Given the description of an element on the screen output the (x, y) to click on. 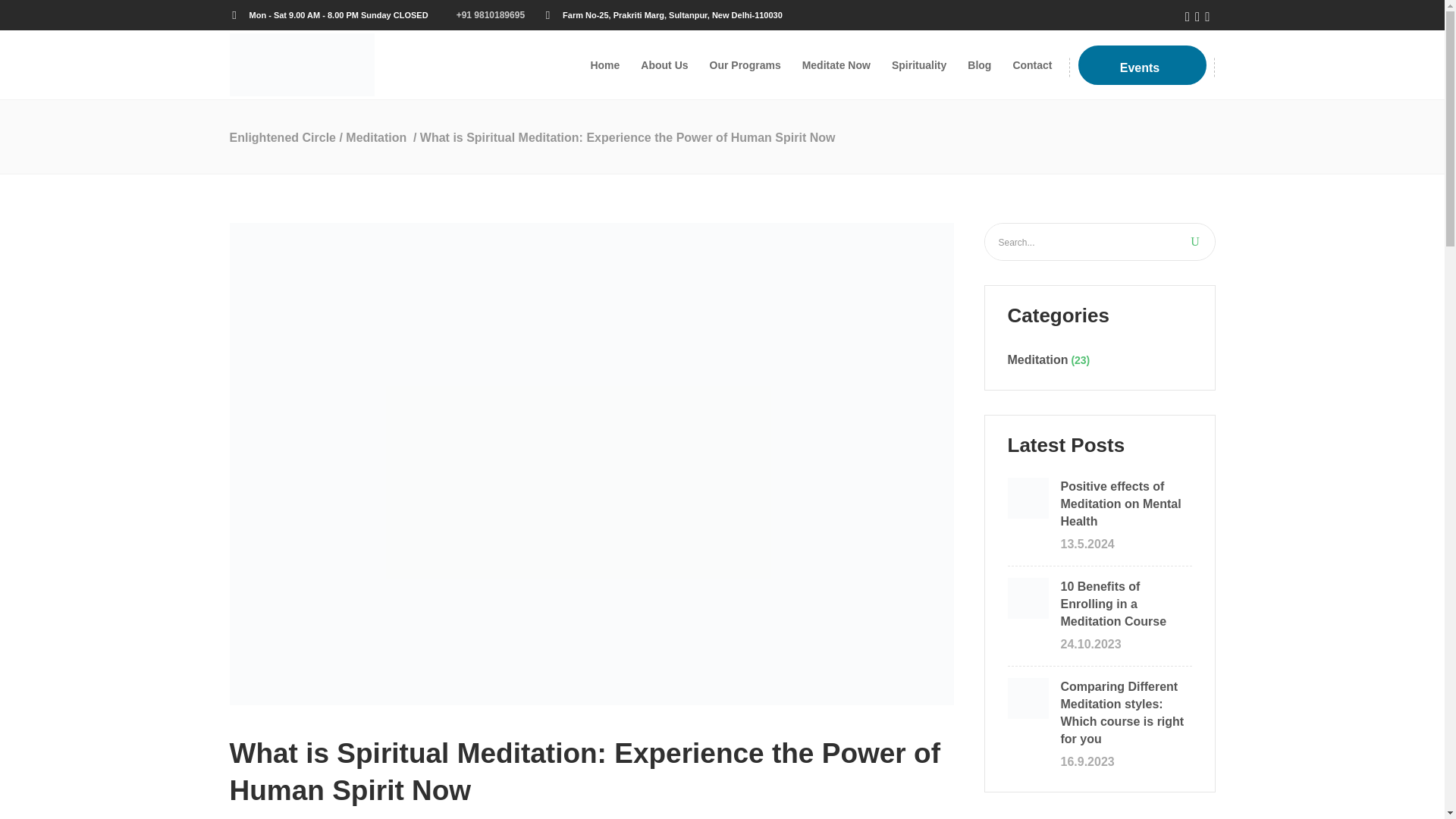
Meditate Now (836, 64)
U (1194, 241)
Spirituality (918, 64)
Our Programs (745, 64)
Events (1142, 65)
About Us (664, 64)
